Given the description of an element on the screen output the (x, y) to click on. 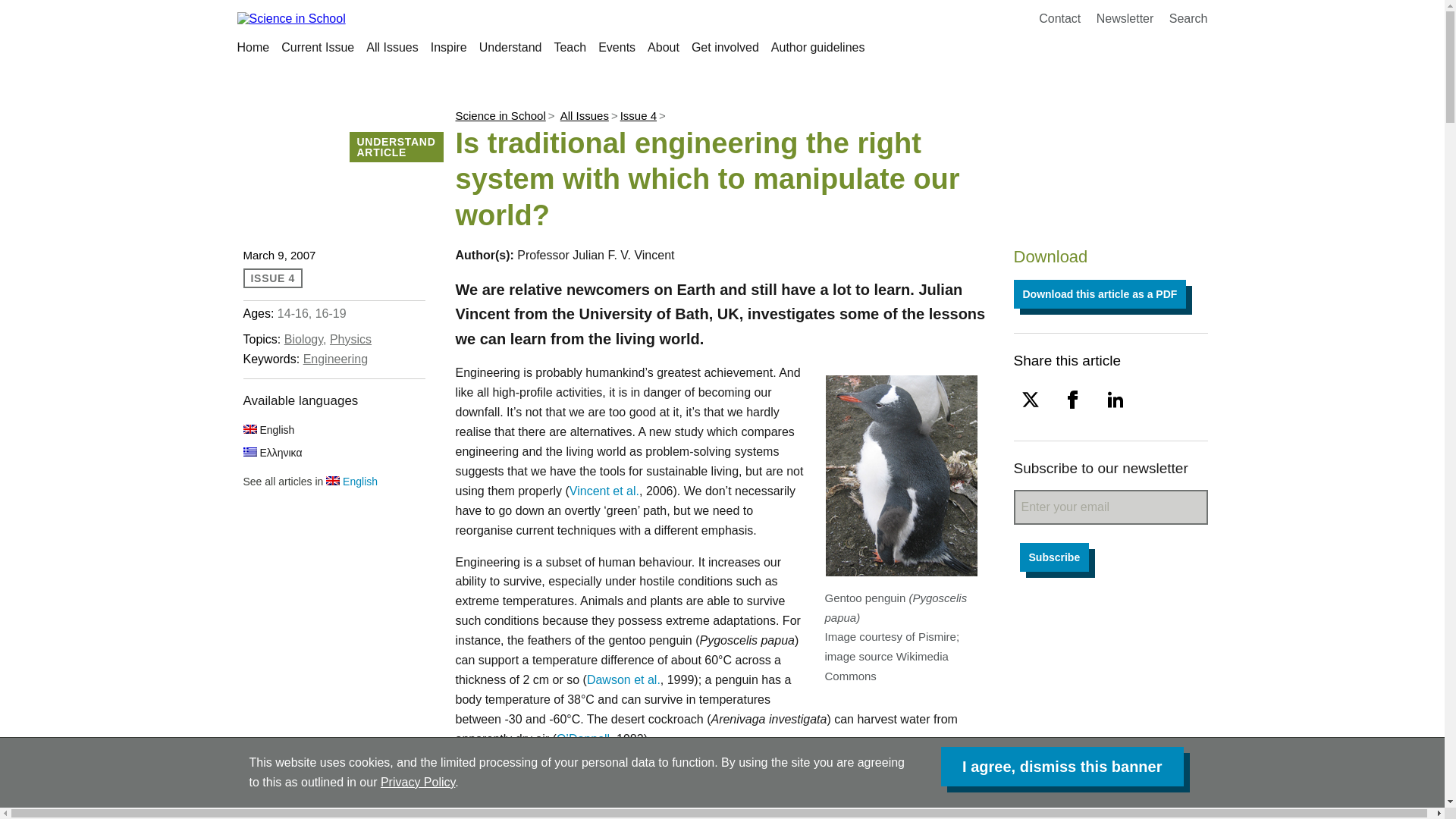
Newsletter (1125, 18)
 English (268, 429)
Author guidelines (817, 47)
Current Issue (317, 47)
I agree, dismiss this banner (1061, 766)
Science in School (499, 115)
Teach (569, 47)
About (663, 47)
Understand (510, 47)
Issue 4 (638, 115)
Get involved (724, 47)
Search (1188, 18)
Biology (303, 338)
English (351, 481)
All Issues (584, 115)
